Given the description of an element on the screen output the (x, y) to click on. 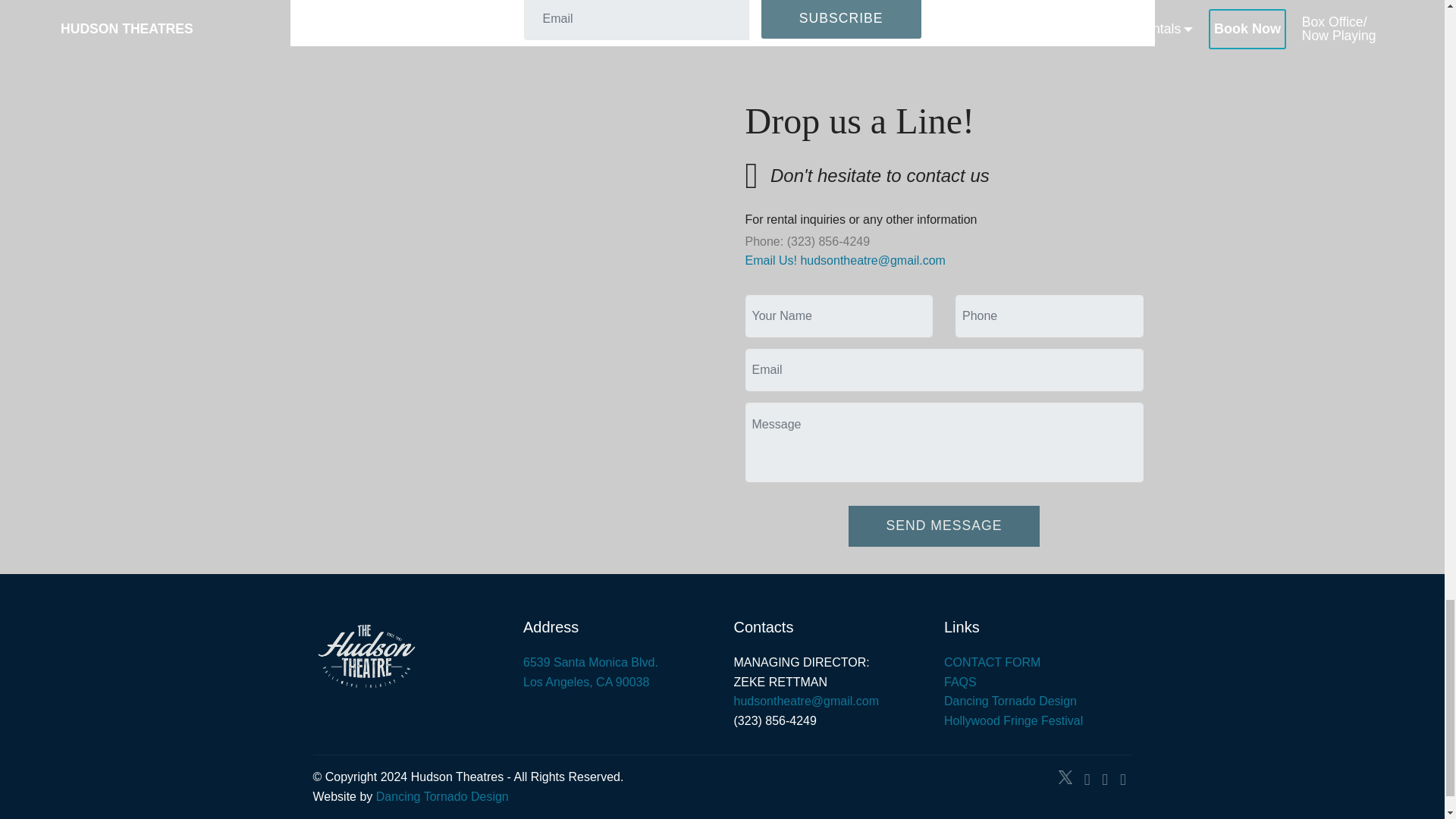
SUBSCRIBE (841, 19)
SEND MESSAGE (944, 526)
FAQS (959, 681)
Dancing Tornado Design (1010, 700)
Dancing Tornado Design (441, 796)
CONTACT FORM (992, 662)
Hollywood Fringe Festival (590, 672)
